Given the description of an element on the screen output the (x, y) to click on. 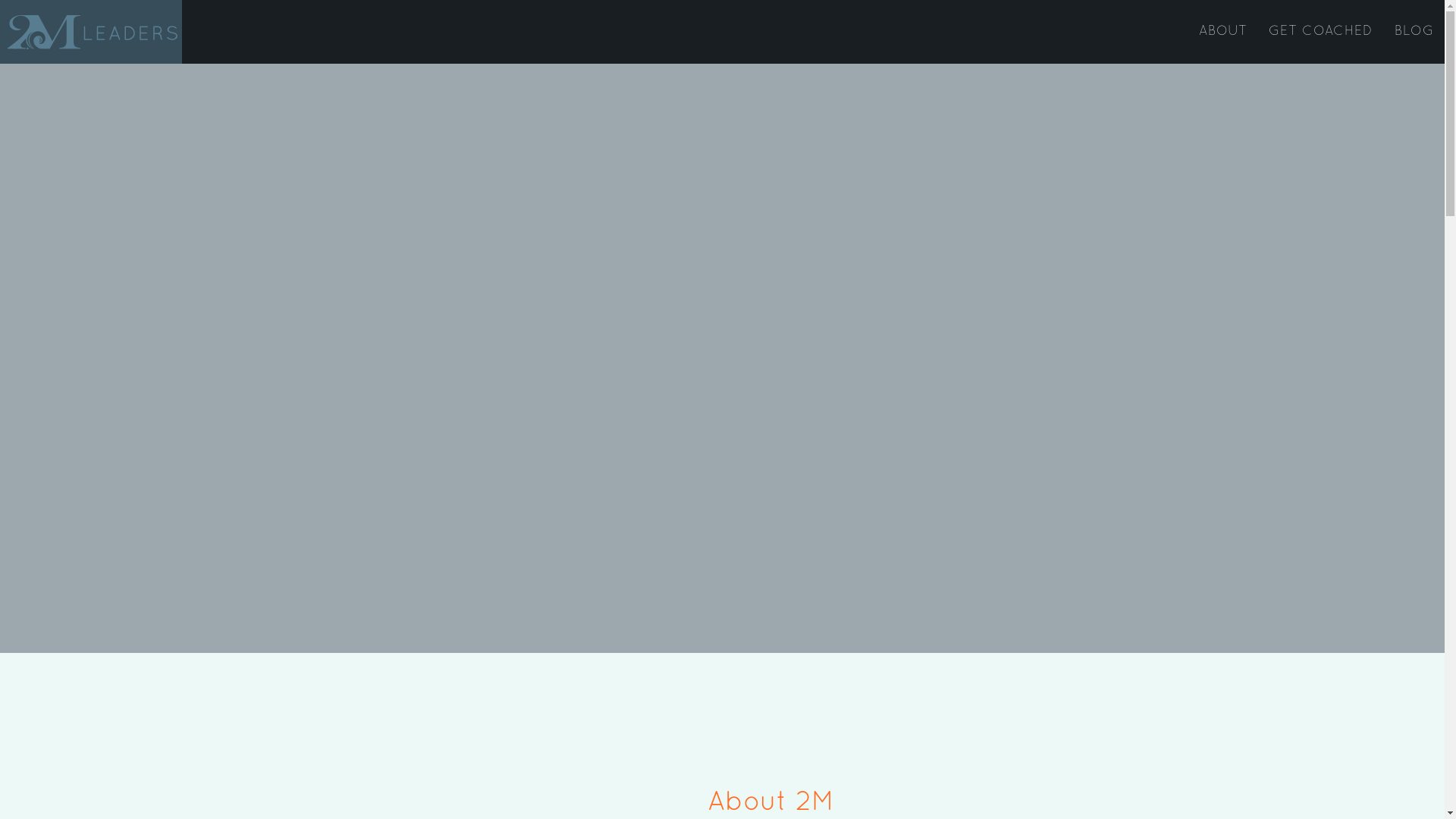
GET COACHED Element type: text (1320, 31)
BLOG Element type: text (1413, 31)
ABOUT Element type: text (1223, 31)
